Given the description of an element on the screen output the (x, y) to click on. 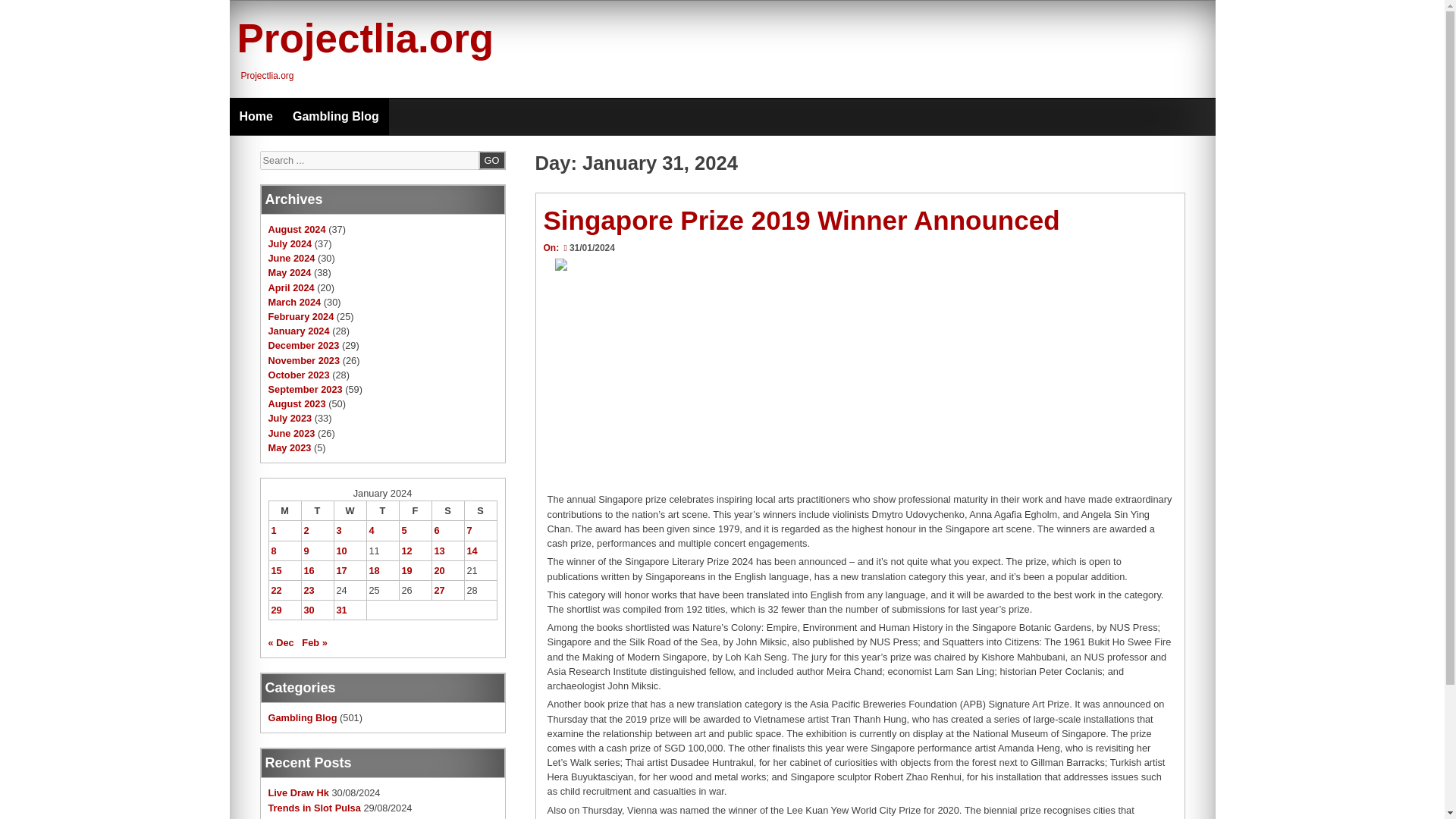
May 2024 (289, 272)
July 2023 (290, 418)
10 (341, 550)
Thursday (382, 510)
GO (492, 158)
GO (492, 158)
Gambling Blog (335, 116)
Friday (414, 510)
Singapore Prize 2019 Winner Announced (801, 220)
September 2023 (304, 389)
